Given the description of an element on the screen output the (x, y) to click on. 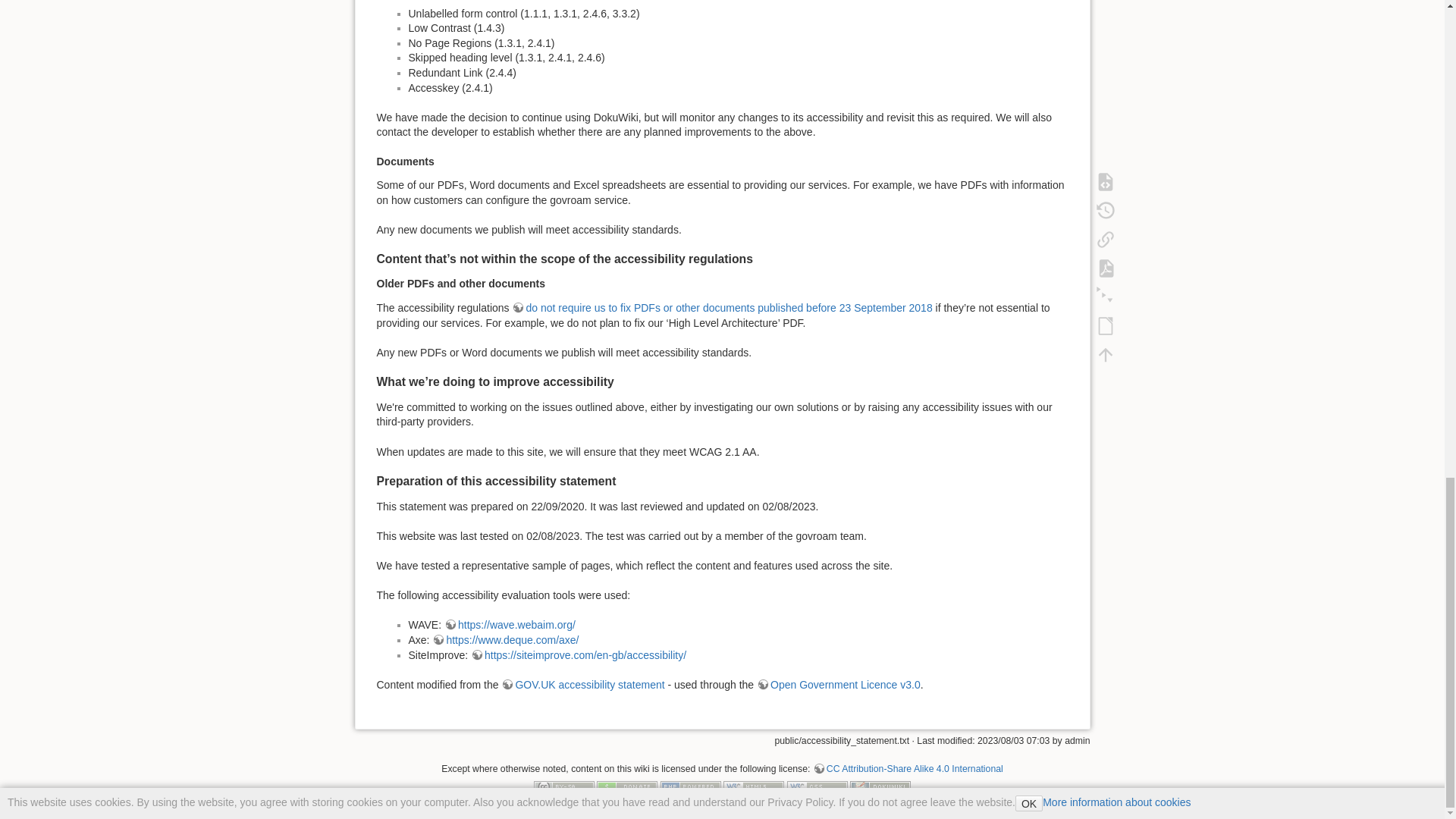
Open Government Licence v3.0 (838, 684)
GOV.UK accessibility statement (581, 684)
